Given the description of an element on the screen output the (x, y) to click on. 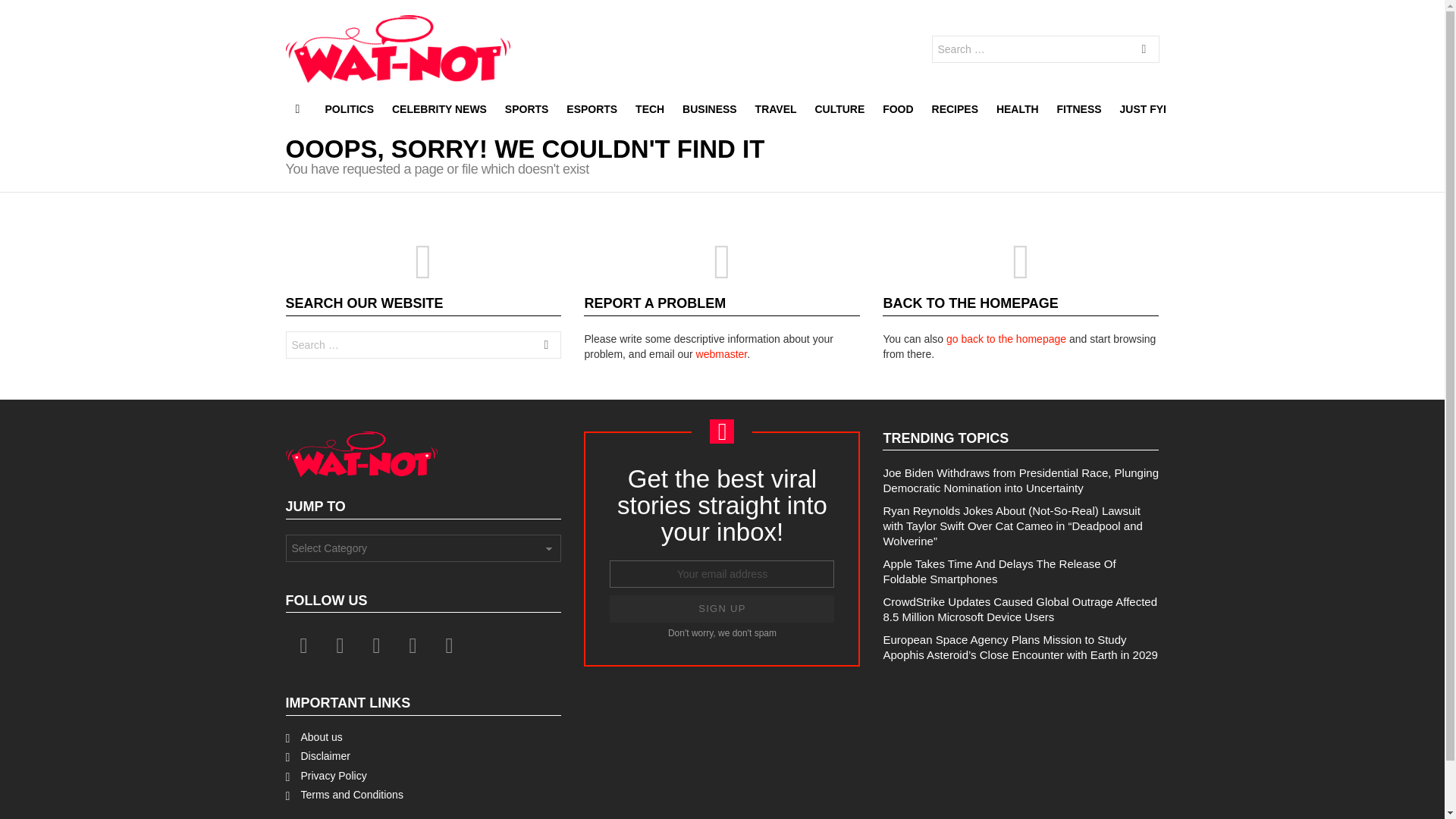
About us (422, 737)
Menu (296, 108)
Sign up (722, 608)
go back to the homepage (1005, 338)
FOOD (897, 108)
HEALTH (1017, 108)
RECIPES (954, 108)
webmaster (721, 354)
ESPORTS (591, 108)
Search for: (1044, 49)
instagram (376, 646)
SPORTS (526, 108)
POLITICS (349, 108)
